Given the description of an element on the screen output the (x, y) to click on. 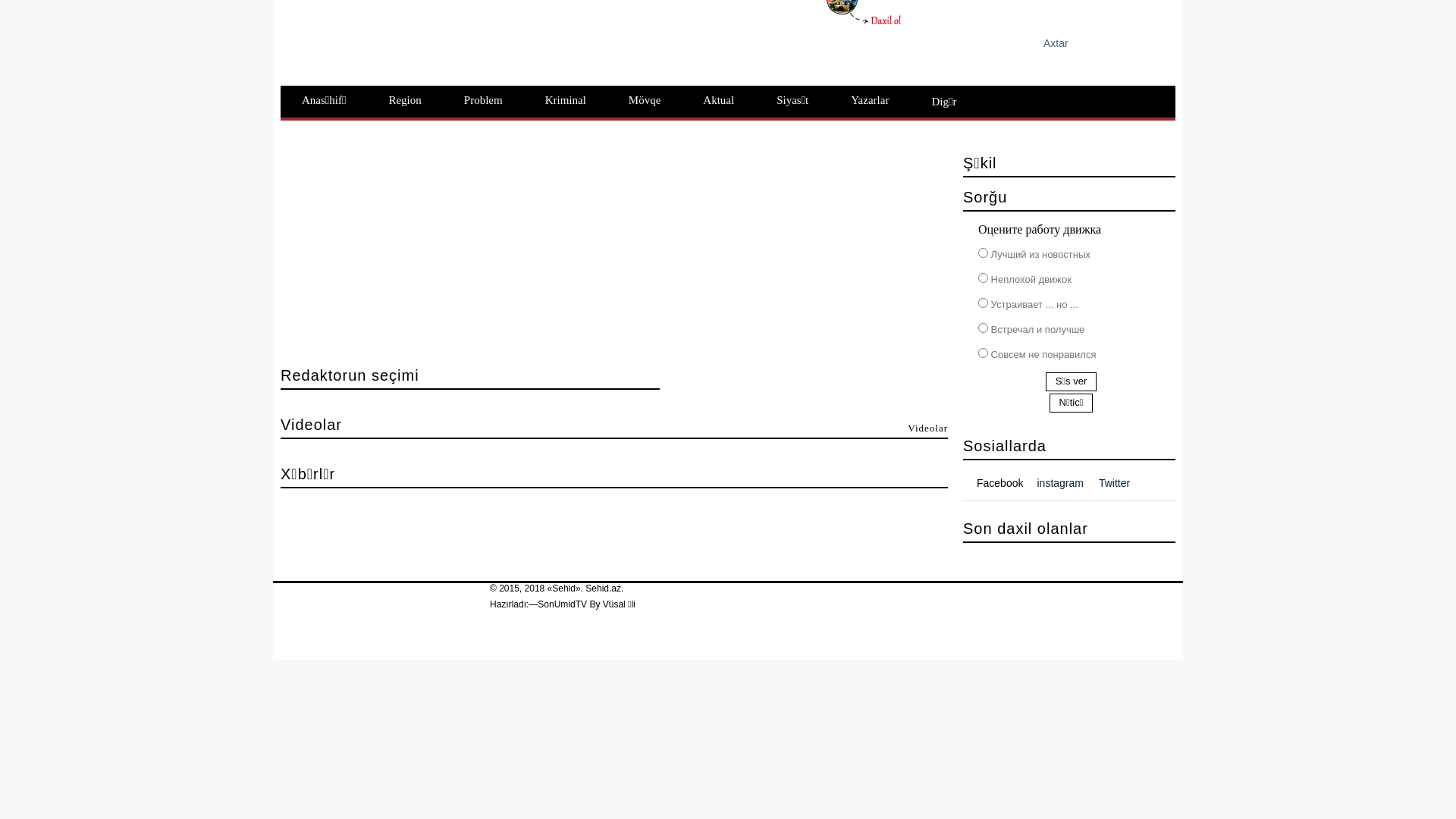
Axtar Element type: hover (1138, 42)
Region Element type: text (404, 99)
Videolar Element type: text (927, 428)
Problem Element type: text (483, 99)
Yazarlar Element type: text (869, 99)
Aktual Element type: text (718, 99)
Kriminal Element type: text (565, 99)
facebook Element type: hover (752, 39)
